Given the description of an element on the screen output the (x, y) to click on. 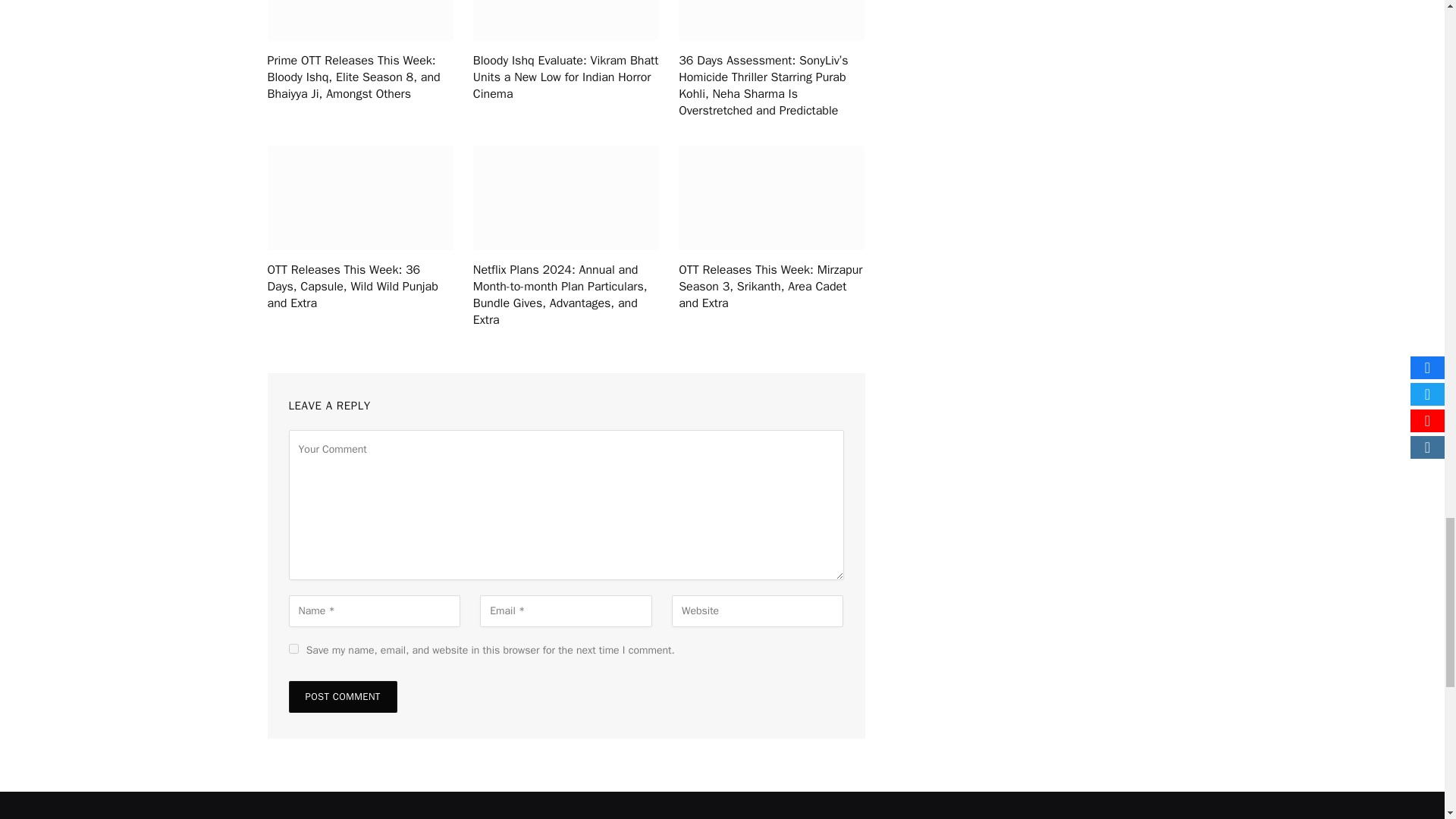
yes (293, 648)
Post Comment (342, 696)
